Given the description of an element on the screen output the (x, y) to click on. 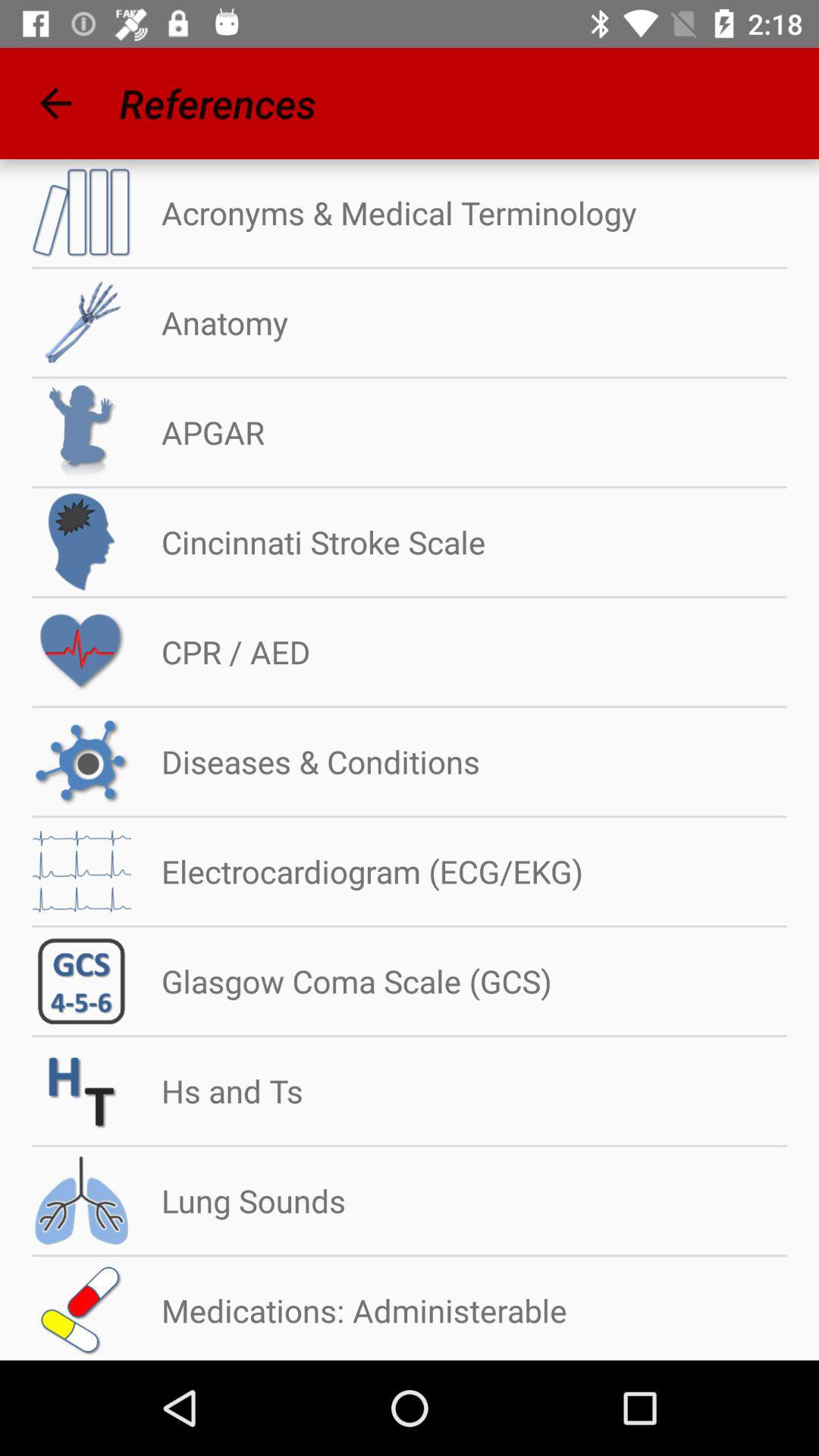
click the acronyms & medical terminology item (384, 212)
